Given the description of an element on the screen output the (x, y) to click on. 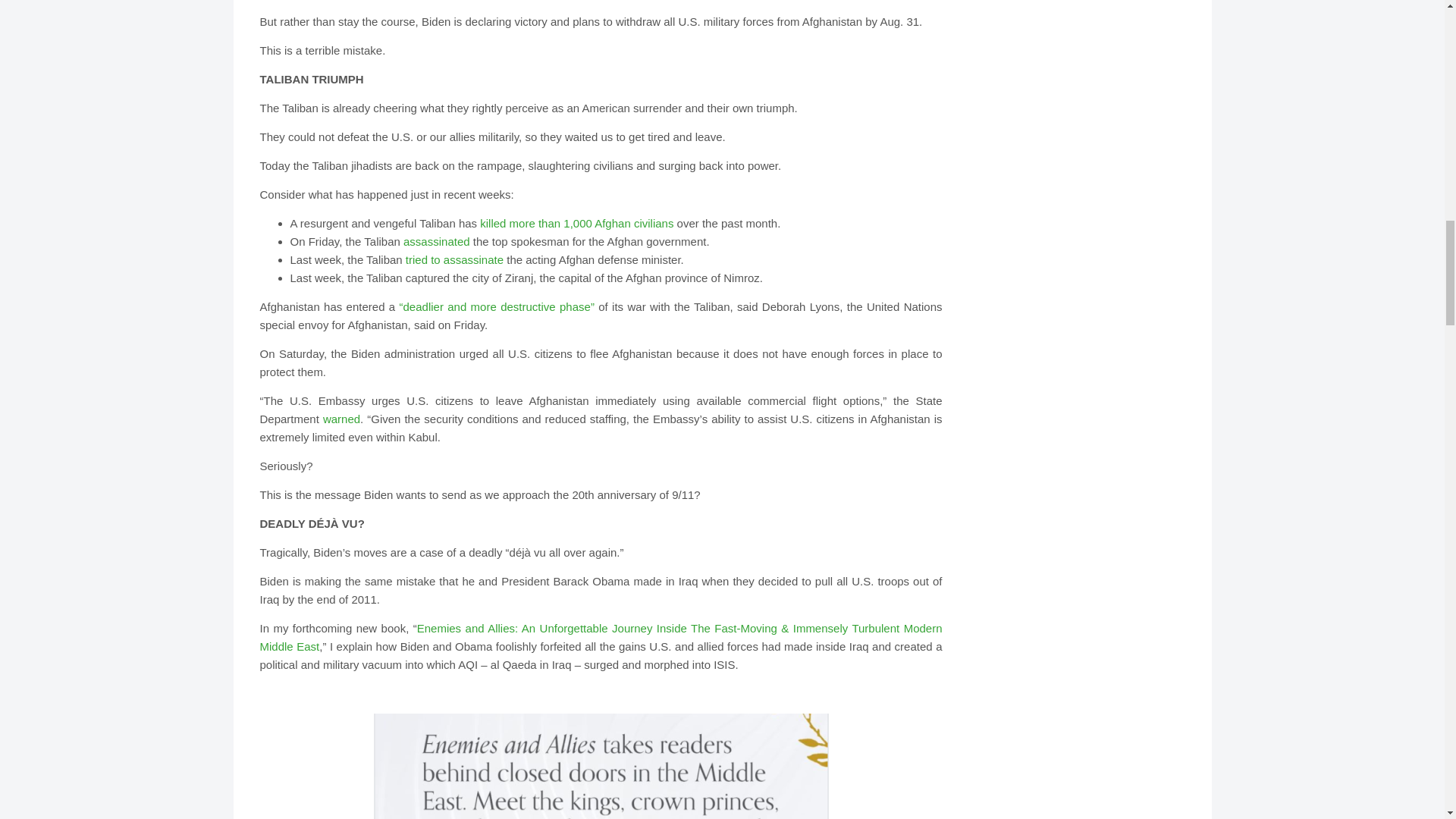
tried to assassinate (454, 259)
killed more than 1,000 Afghan civilians (576, 223)
assassinated (436, 241)
warned (341, 418)
